Given the description of an element on the screen output the (x, y) to click on. 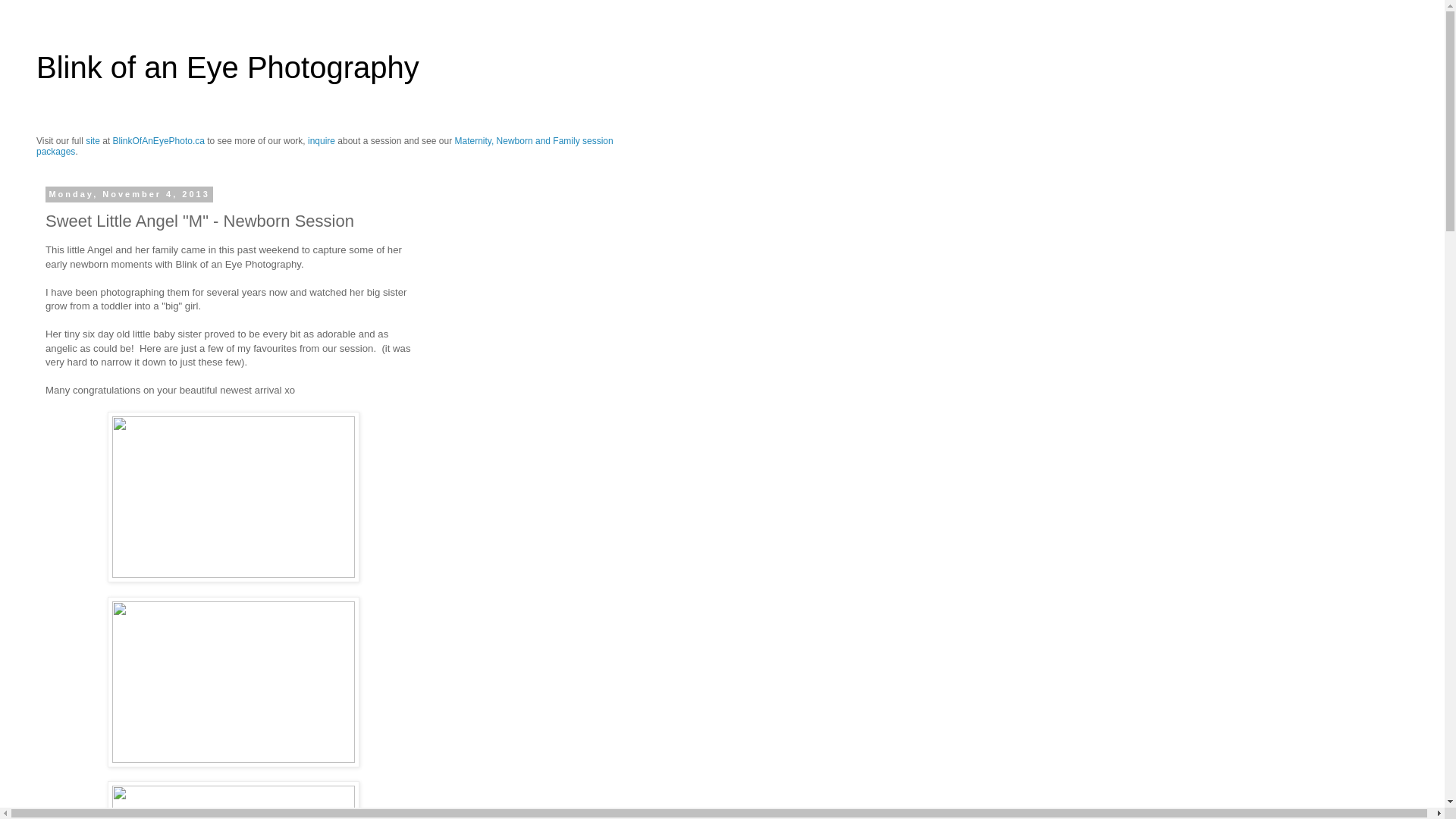
inquire Element type: text (321, 140)
Blink of an Eye Photography Element type: text (227, 67)
site Element type: text (92, 140)
BlinkOfAnEyePhoto.ca Element type: text (158, 140)
Maternity, Newborn and Family session packages Element type: text (324, 145)
